Given the description of an element on the screen output the (x, y) to click on. 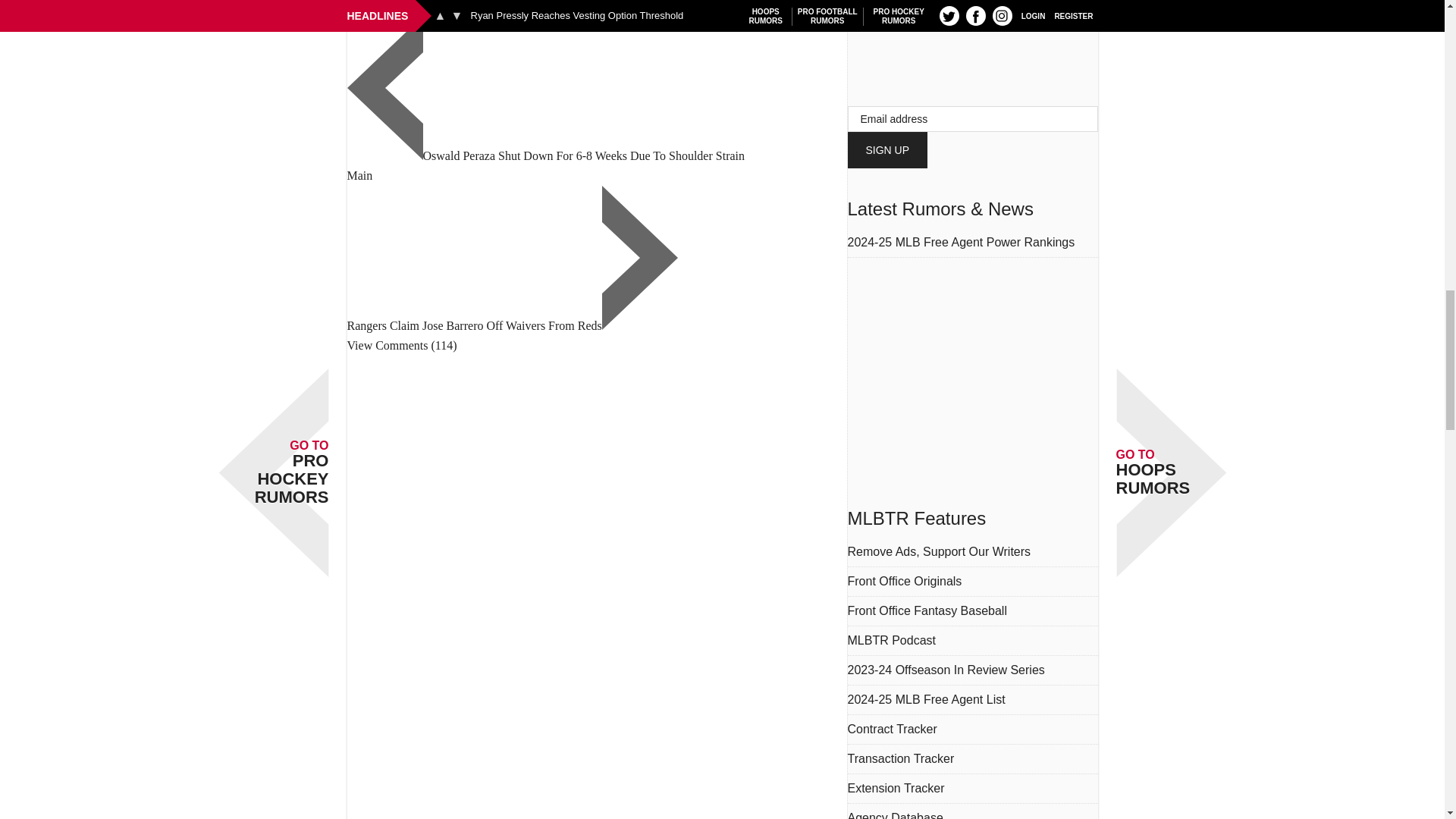
Sign Up (887, 149)
